Given the description of an element on the screen output the (x, y) to click on. 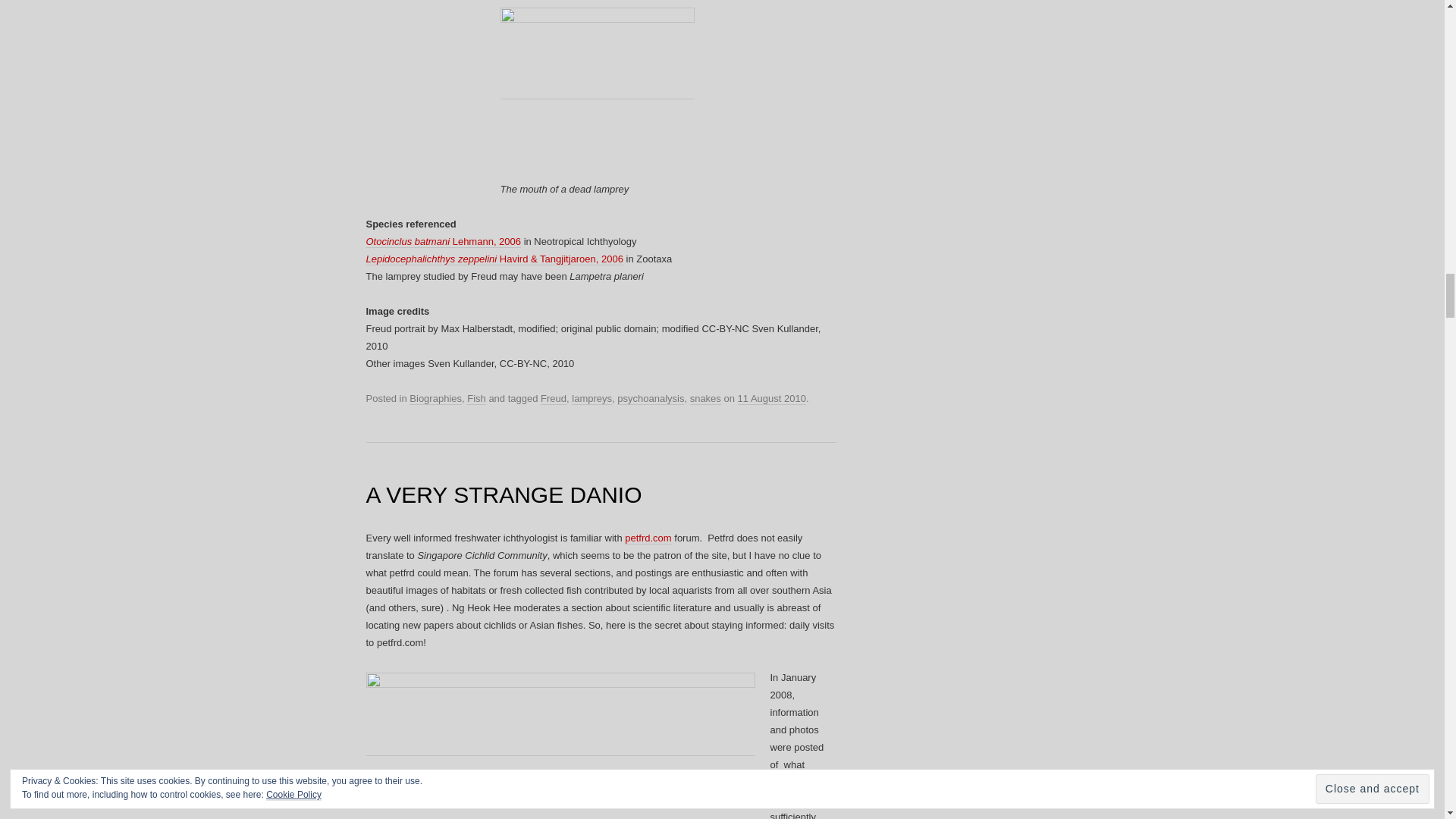
Lampreymouth (597, 93)
